Given the description of an element on the screen output the (x, y) to click on. 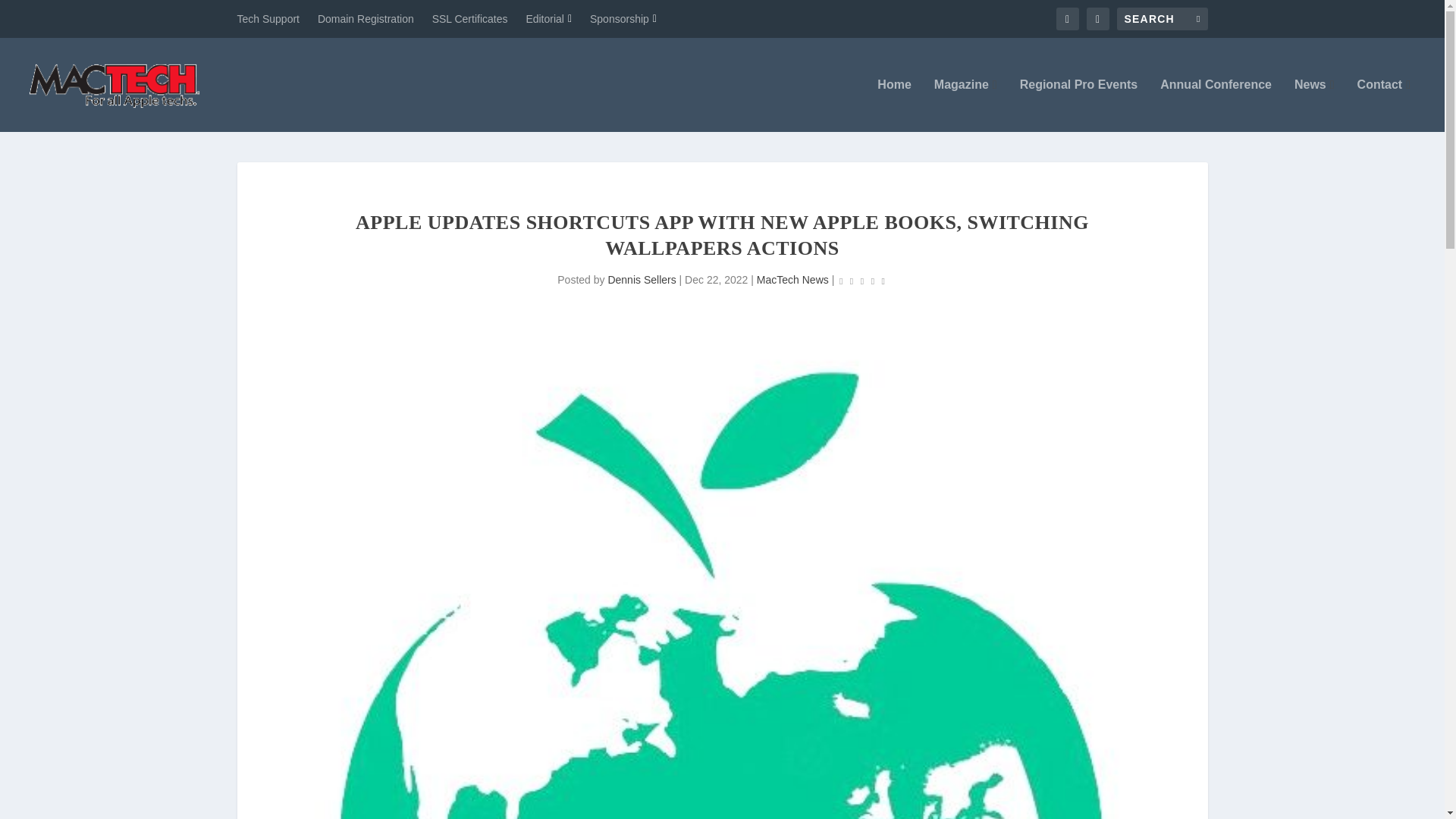
Contact (1383, 104)
Search for: (1161, 18)
Magazine (965, 104)
Annual Conference (1215, 104)
Rating: 0.00 (861, 280)
SSL Certificates (470, 18)
Domain Registration (365, 18)
Editorial (548, 18)
Posts by Dennis Sellers (641, 279)
Sponsorship (622, 18)
